Given the description of an element on the screen output the (x, y) to click on. 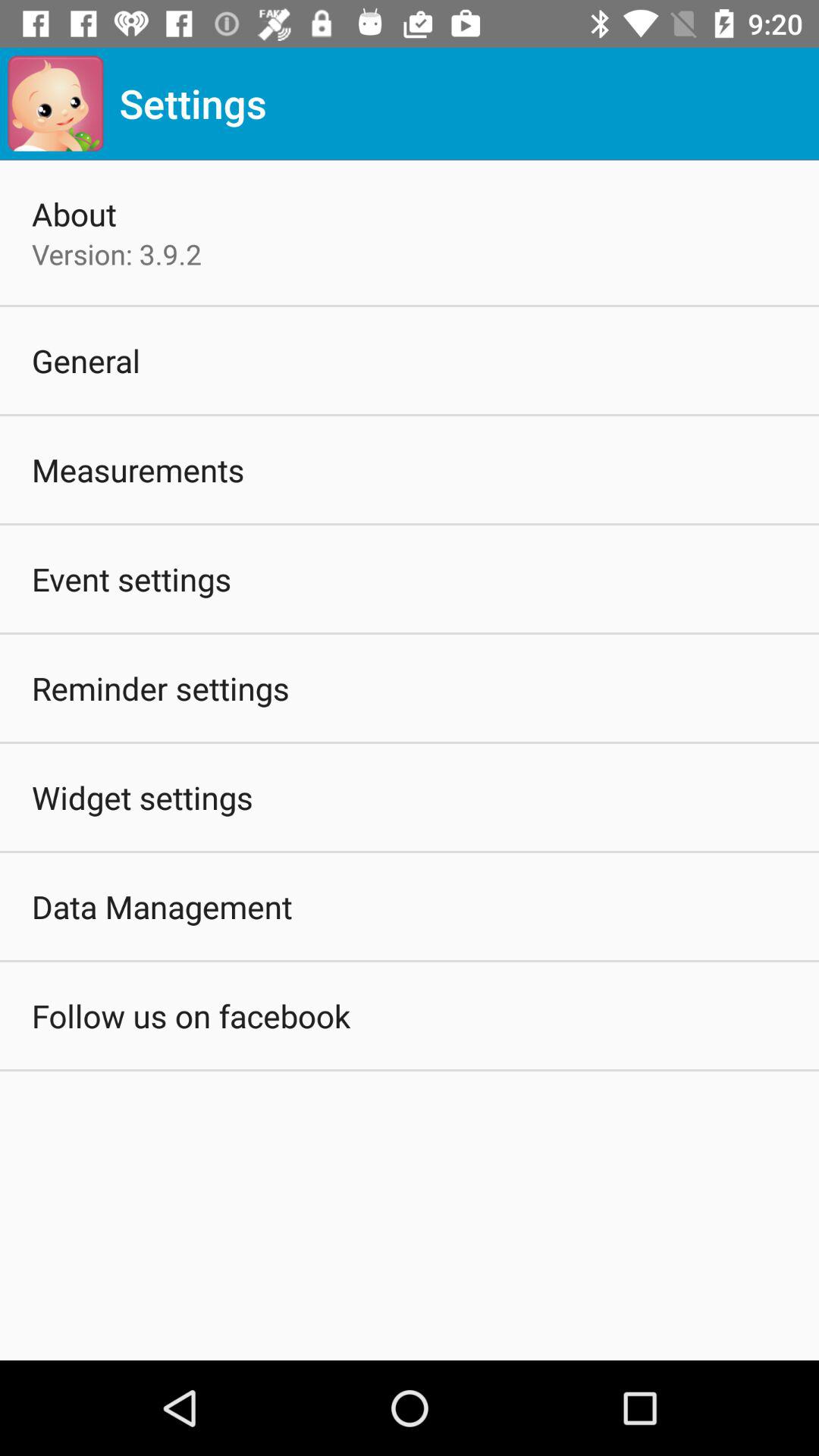
choose the icon below data management app (190, 1015)
